Given the description of an element on the screen output the (x, y) to click on. 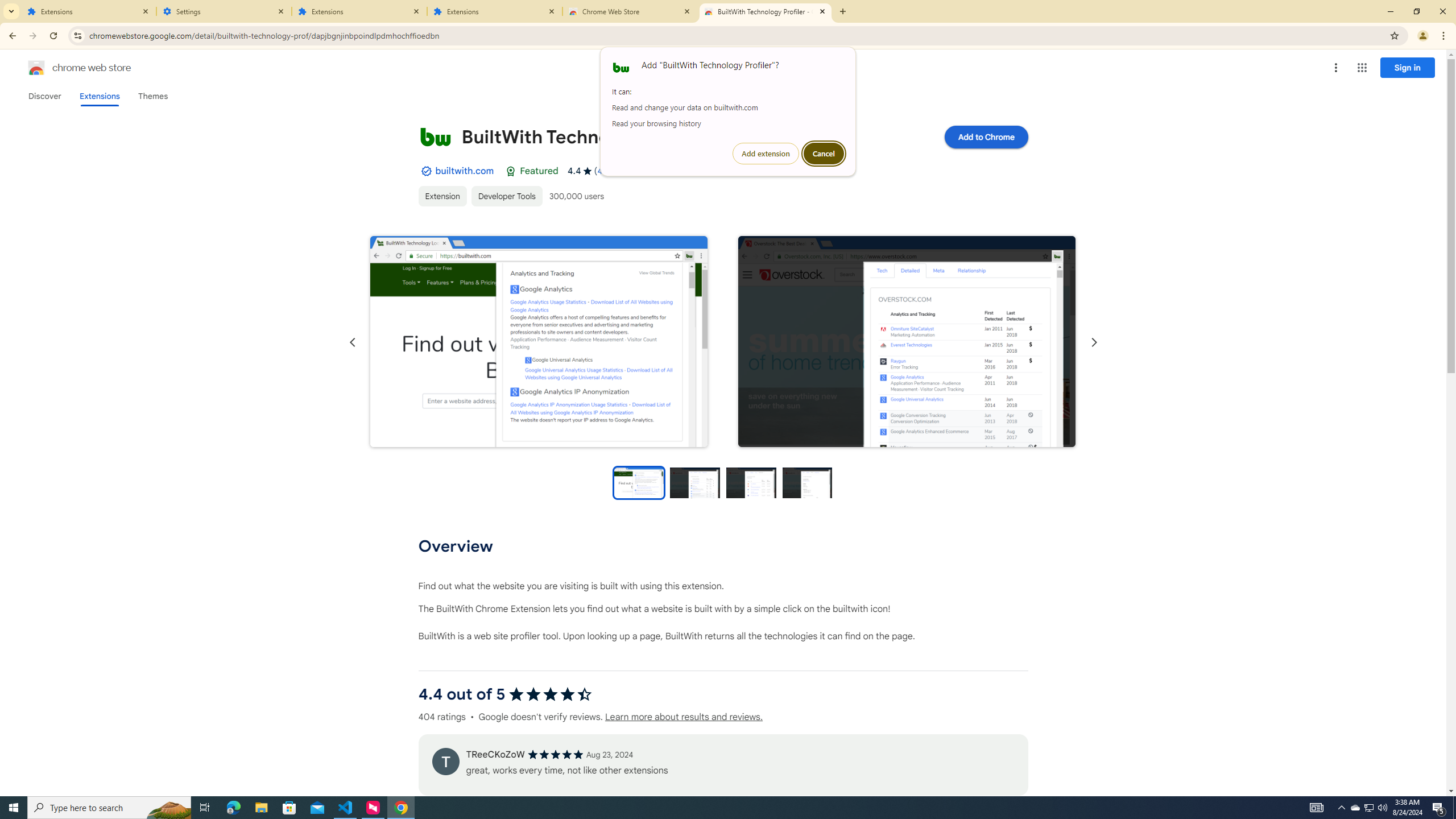
Item media 2 screenshot (906, 341)
Cancel (823, 153)
Preview slide 3 (751, 482)
More options menu (1335, 67)
Q2790: 100% (1382, 807)
Chrome Web Store (630, 11)
Themes (152, 95)
Microsoft Edge (233, 807)
Discover (43, 95)
Learn more about results and reviews. (683, 716)
